Given the description of an element on the screen output the (x, y) to click on. 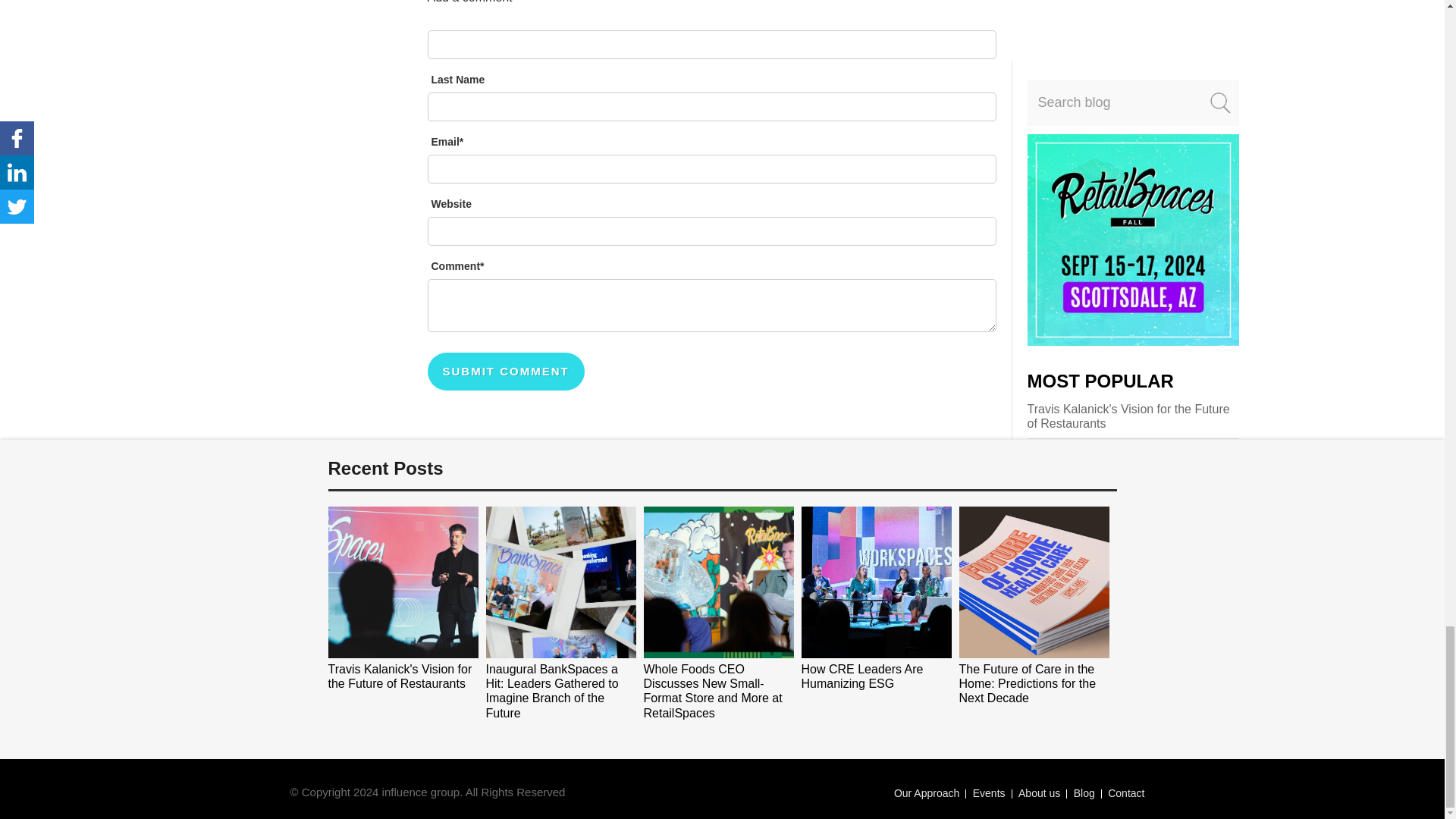
How CRE Leaders Are Humanizing ESG (861, 676)
Travis Kalanick's Vision for the Future of Restaurants (399, 676)
Submit Comment (506, 371)
Submit Comment (506, 371)
